Given the description of an element on the screen output the (x, y) to click on. 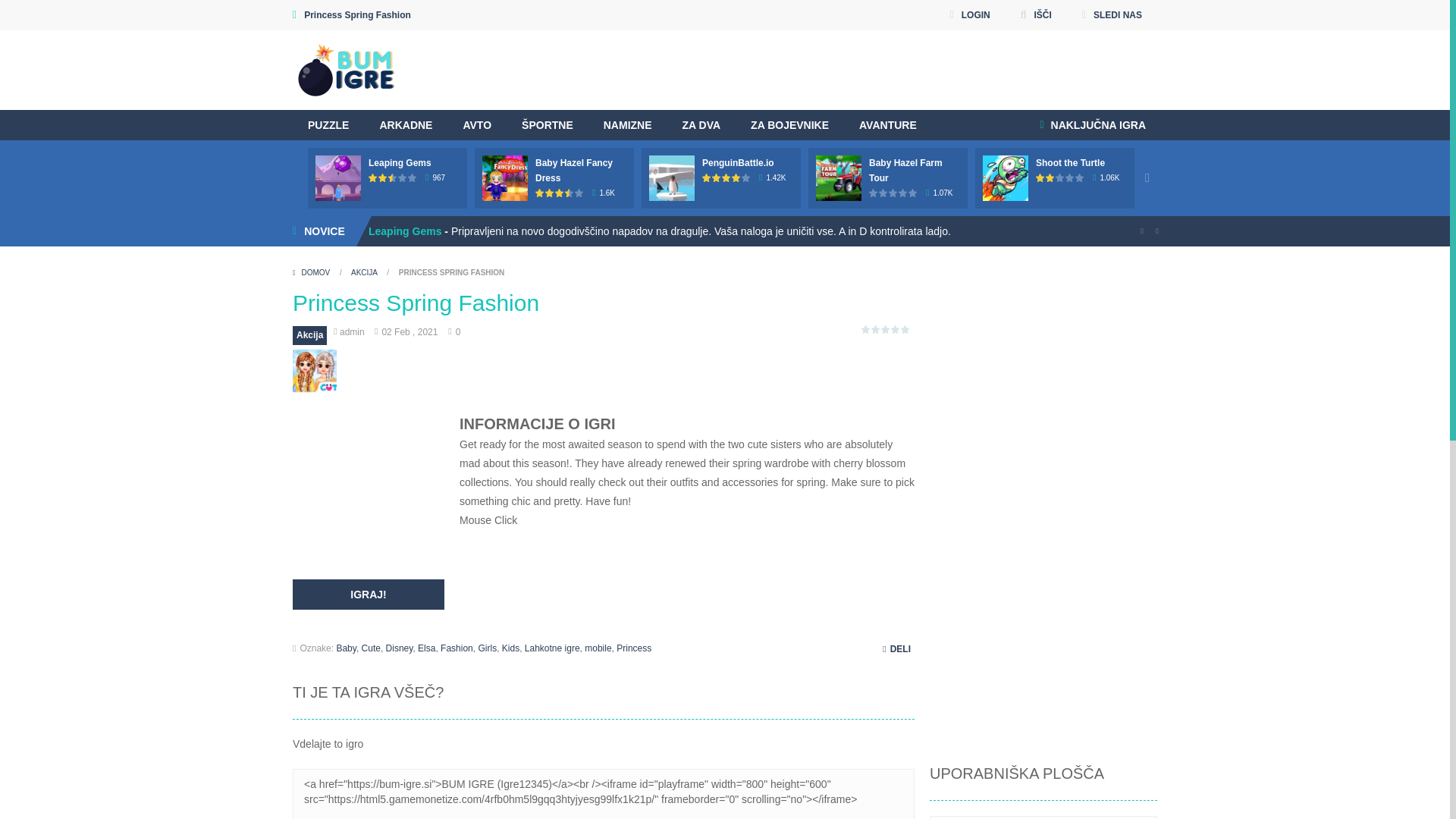
3 votes, average: 4,00 out of 5 (727, 177)
7 votes, average: 2,43 out of 5 (383, 177)
ARKADNE (405, 124)
4 votes, average: 3,25 out of 5 (539, 193)
ZA DVA (701, 124)
3 votes, average: 4,00 out of 5 (706, 177)
PenguinBattle.io (737, 163)
4 votes, average: 3,25 out of 5 (569, 193)
Shoot the Turtle (1070, 163)
AVTO (476, 124)
